Given the description of an element on the screen output the (x, y) to click on. 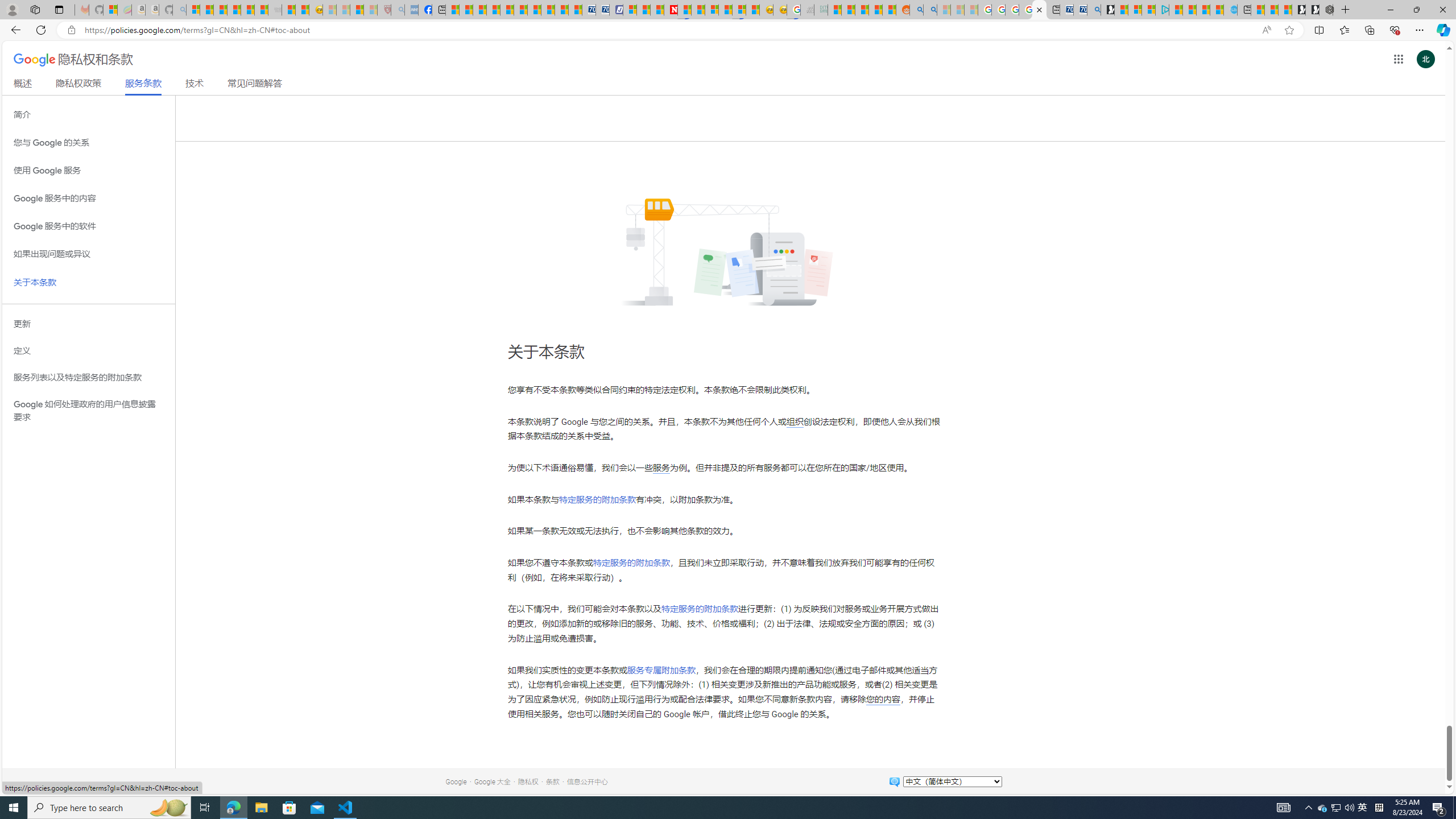
Newsweek - News, Analysis, Politics, Business, Technology (670, 9)
